Given the description of an element on the screen output the (x, y) to click on. 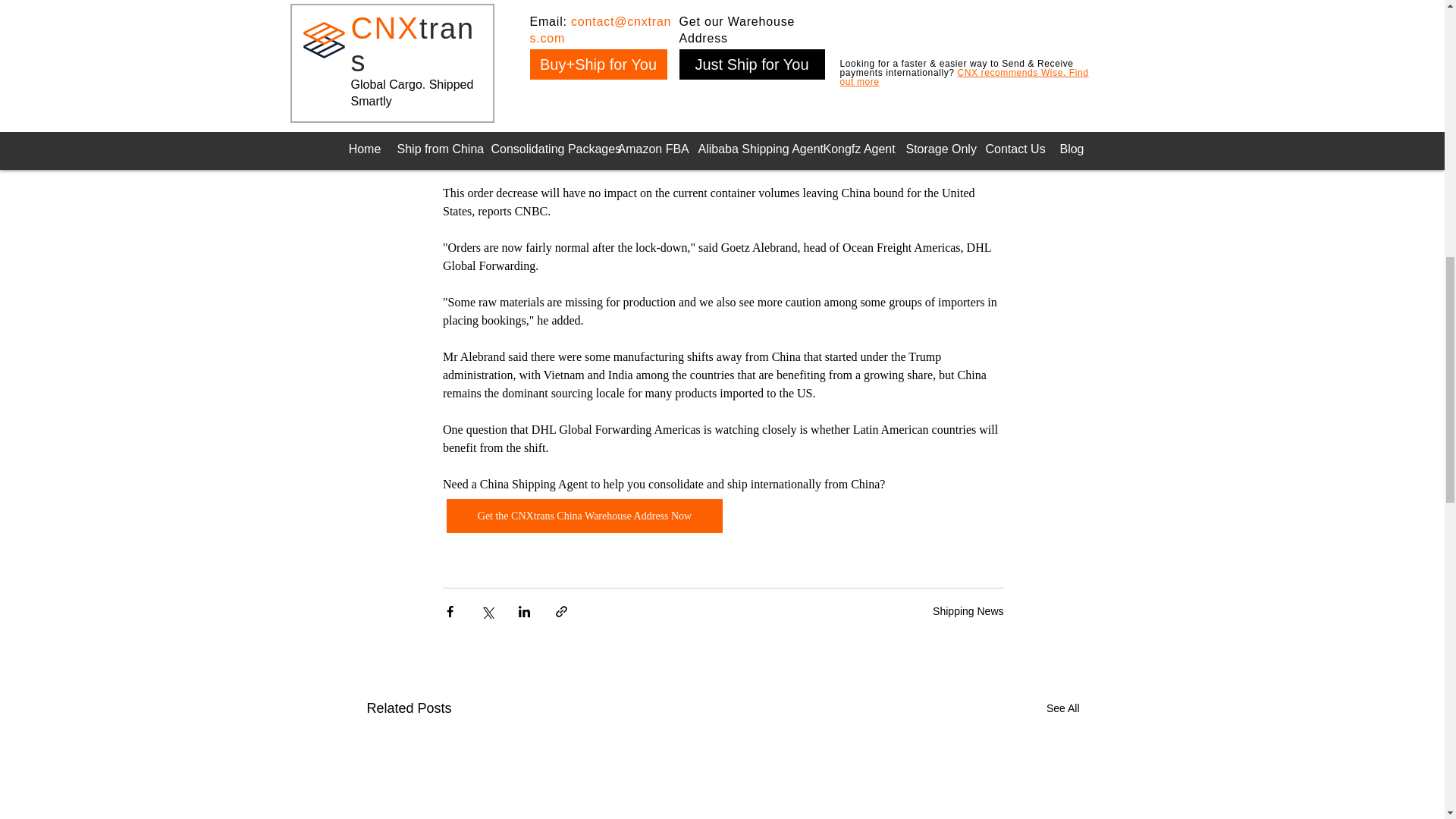
Shipping News (968, 611)
See All (1063, 708)
Get the CNXtrans China Warehouse Address Now (583, 515)
